Given the description of an element on the screen output the (x, y) to click on. 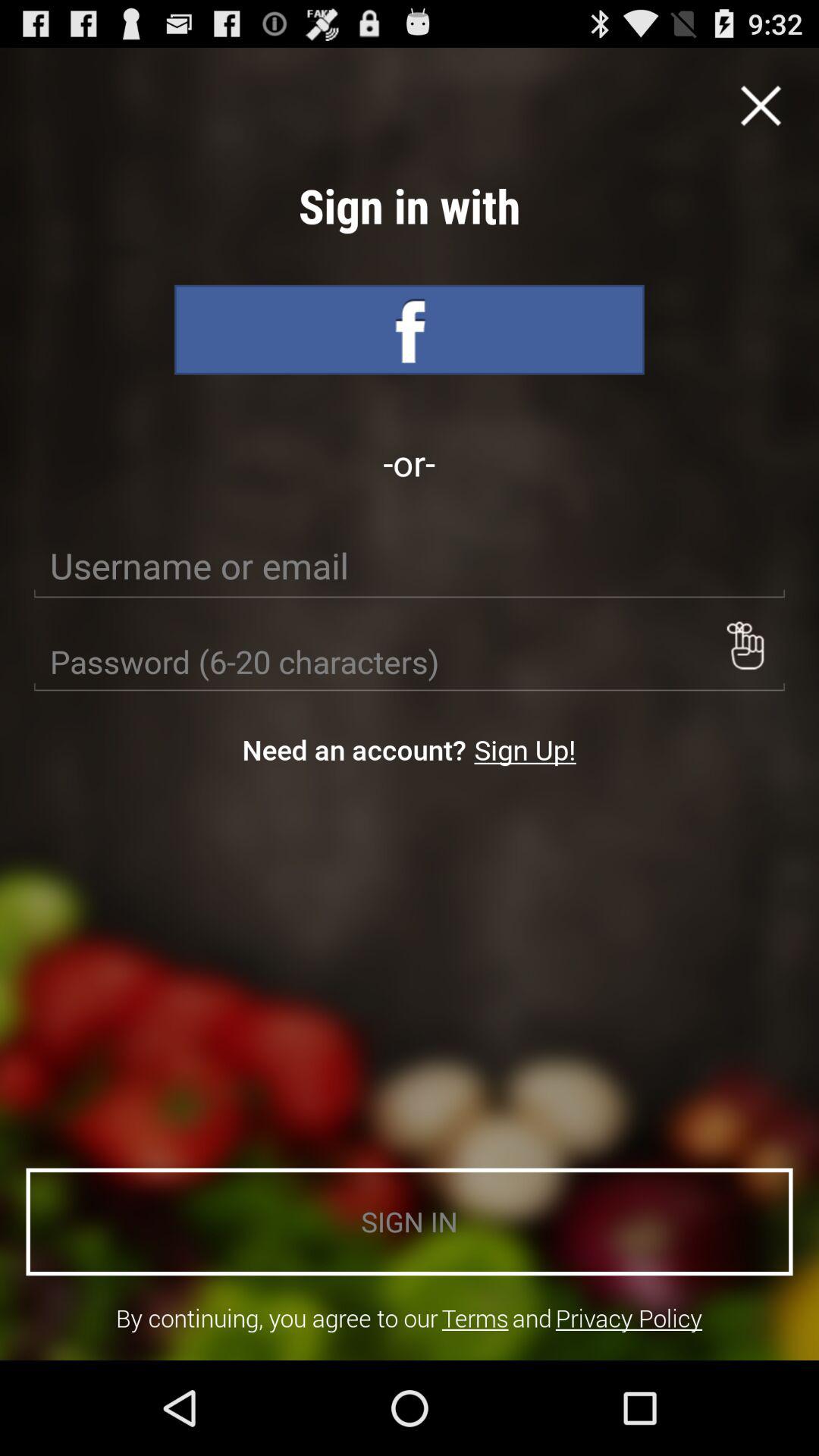
click icon next to the need an account? icon (525, 749)
